Given the description of an element on the screen output the (x, y) to click on. 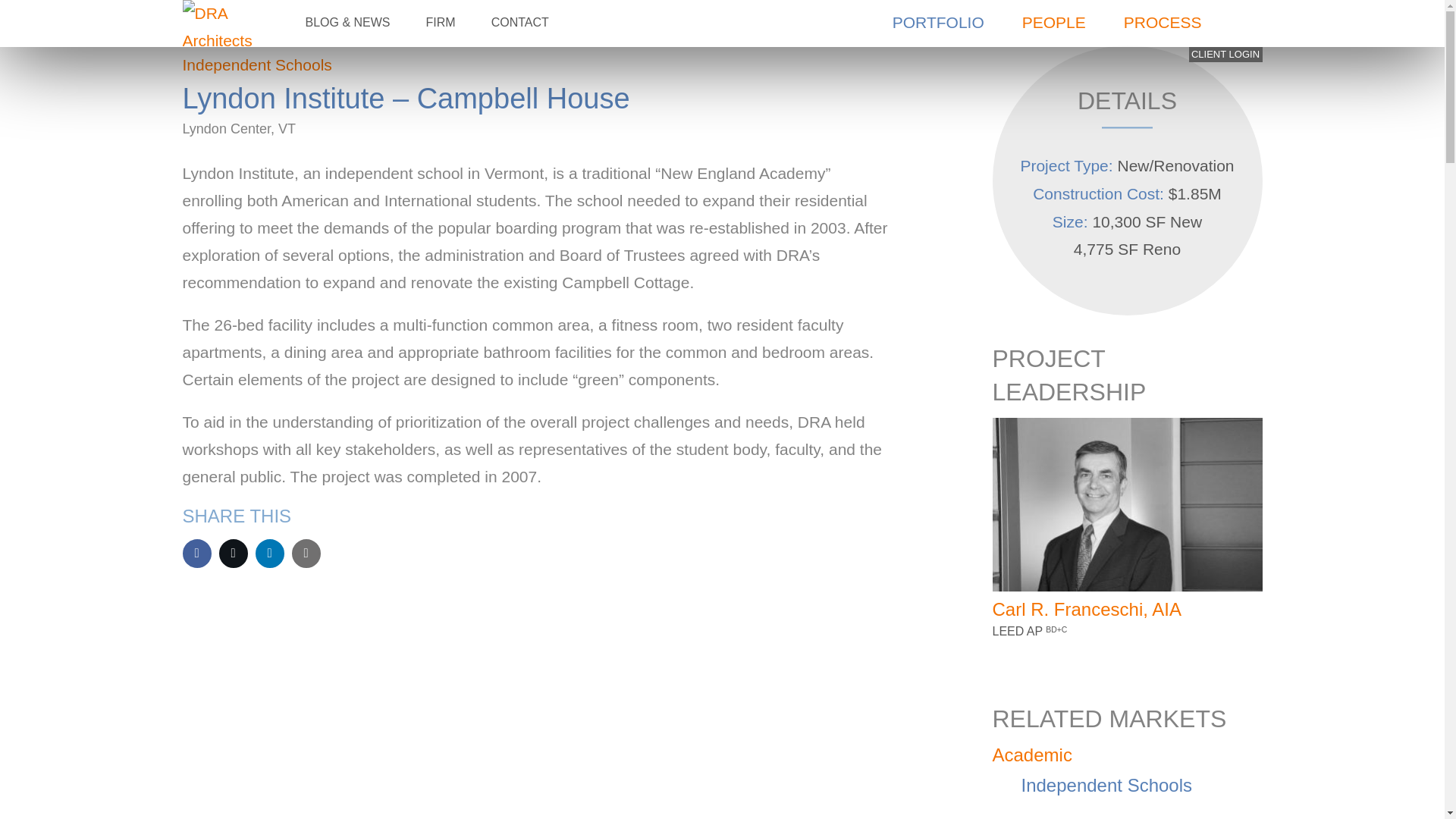
PORTFOLIO (937, 22)
Independent Schools (256, 64)
CLIENT LOGIN (1225, 54)
FIRM (440, 22)
CONTACT (520, 22)
PEOPLE (1053, 22)
PROCESS (1162, 22)
